Given the description of an element on the screen output the (x, y) to click on. 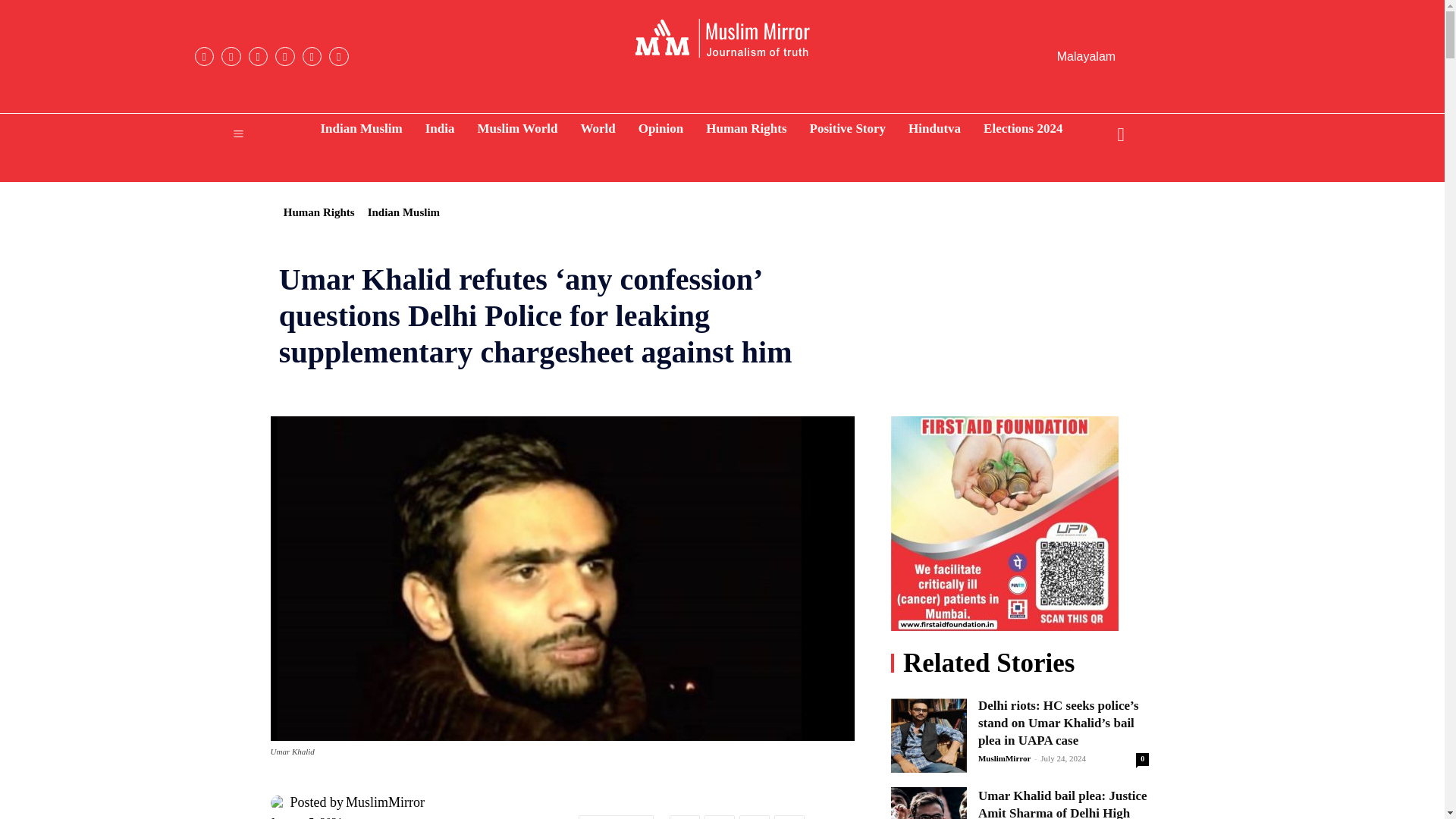
Instagram (231, 56)
Facebook (203, 56)
